Given the description of an element on the screen output the (x, y) to click on. 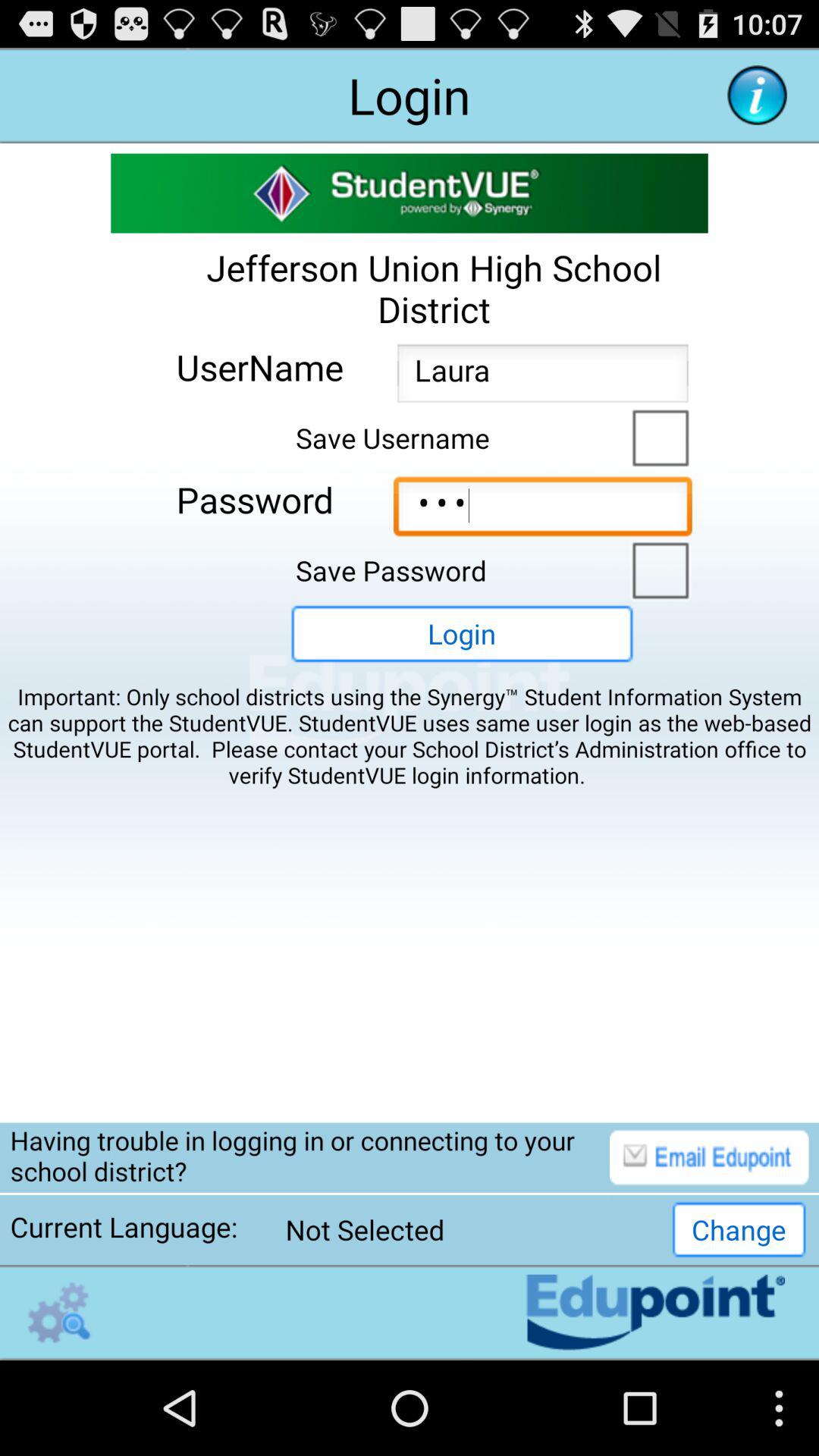
select save (657, 436)
